Given the description of an element on the screen output the (x, y) to click on. 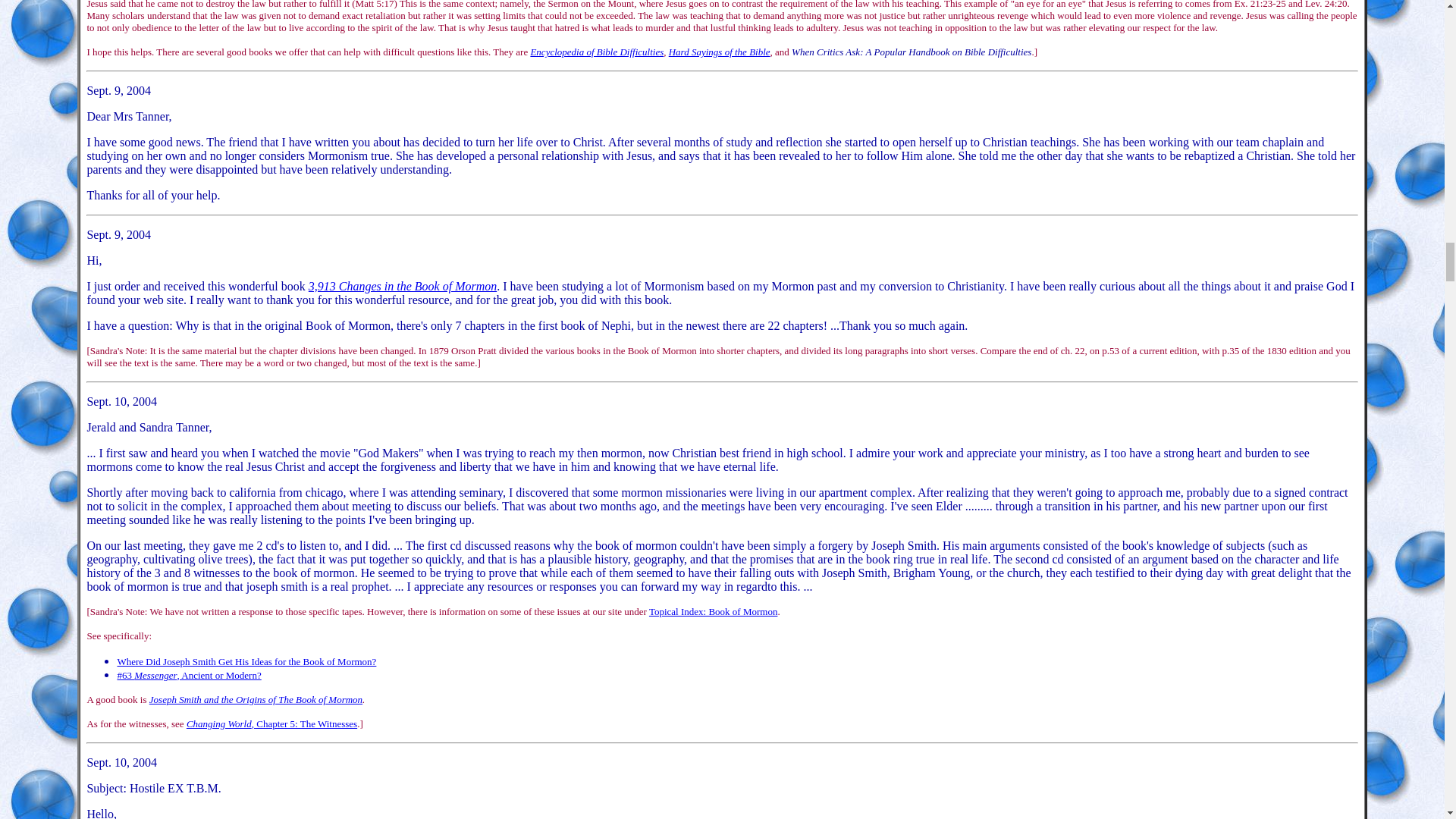
Topical Index: Book of Mormon (713, 611)
Changing World, Chapter 5: The Witnesses (271, 723)
Joseph Smith and the Origins of The Book of Mormon (255, 699)
Hard Sayings of the Bible (719, 51)
3,913 Changes in the Book of Mormon (402, 286)
Encyclopedia of Bible Difficulties (596, 51)
Where Did Joseph Smith Get His Ideas for the Book of Mormon? (245, 660)
